Given the description of an element on the screen output the (x, y) to click on. 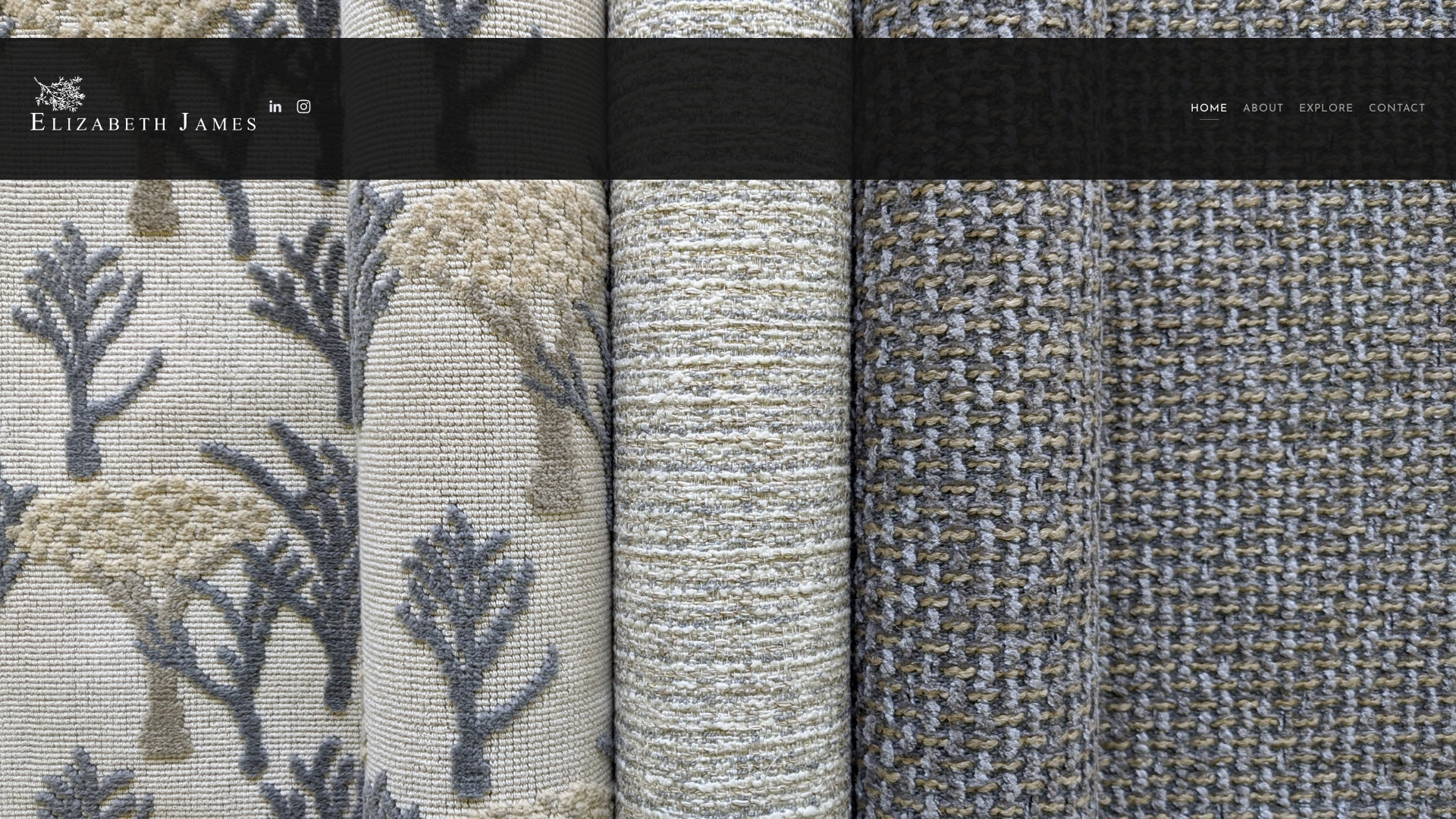
CONTACT Element type: text (1396, 108)
EXPLORE Element type: text (1326, 108)
ABOUT Element type: text (1262, 108)
HOME Element type: text (1208, 108)
